Given the description of an element on the screen output the (x, y) to click on. 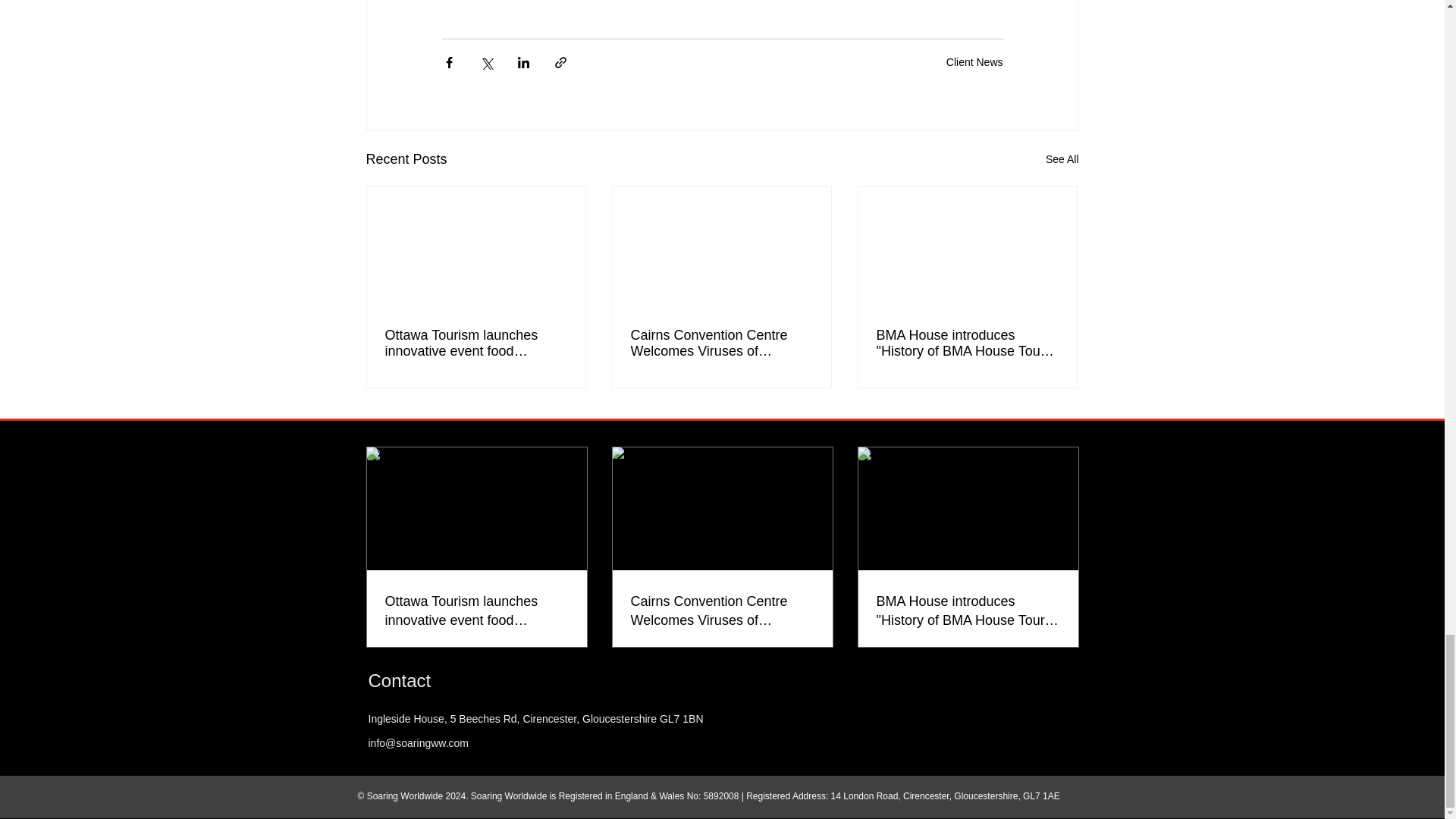
Client News (974, 61)
See All (1061, 159)
